Given the description of an element on the screen output the (x, y) to click on. 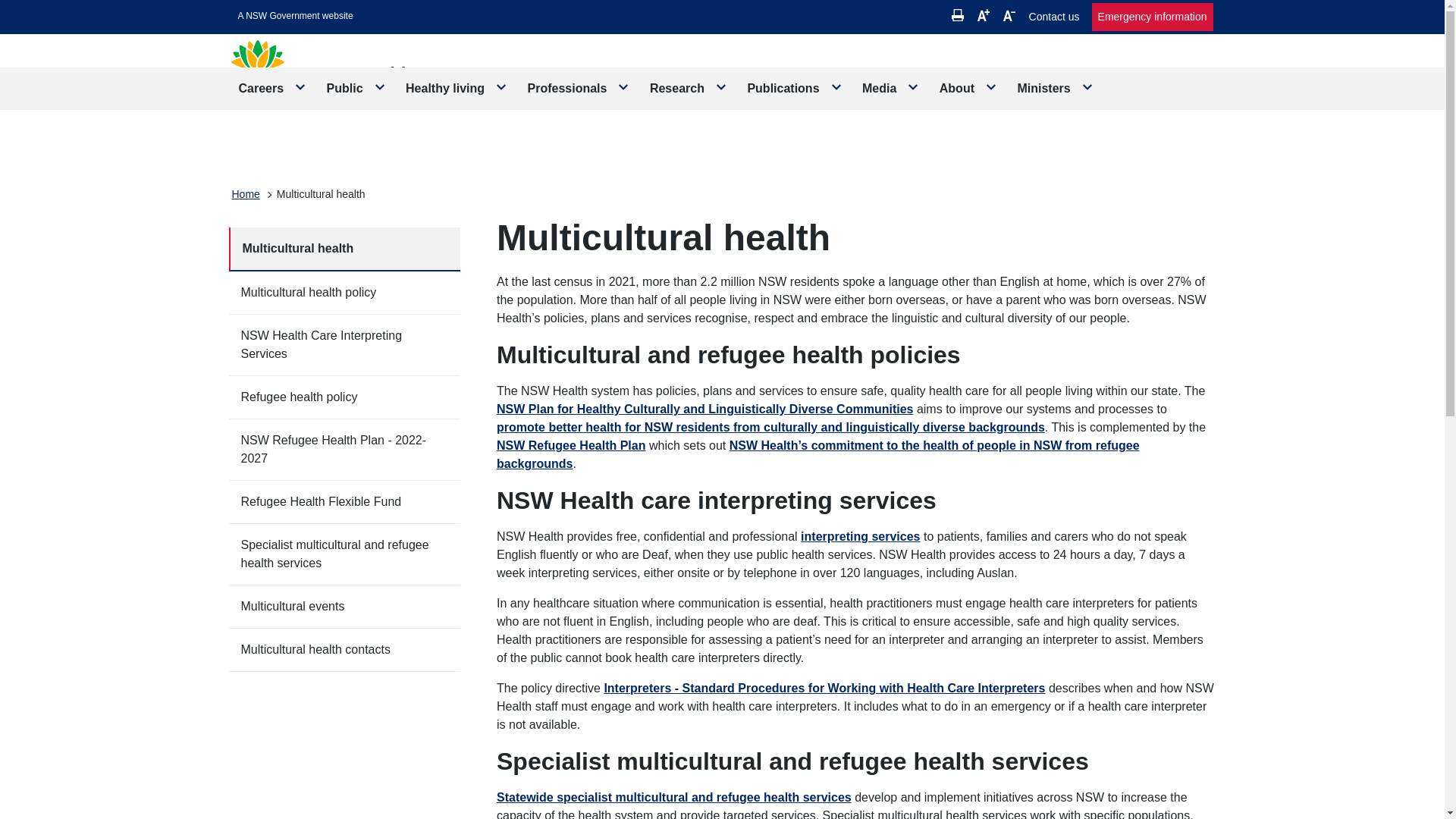
Careers (272, 88)
Public (356, 88)
Print Page (957, 15)
Emergency information (1152, 17)
Contact us (1054, 17)
Home (245, 193)
Increase Font Size (983, 15)
Decrease Font Size (1008, 15)
Skip to content (296, 15)
Go to homepage (347, 79)
